Given the description of an element on the screen output the (x, y) to click on. 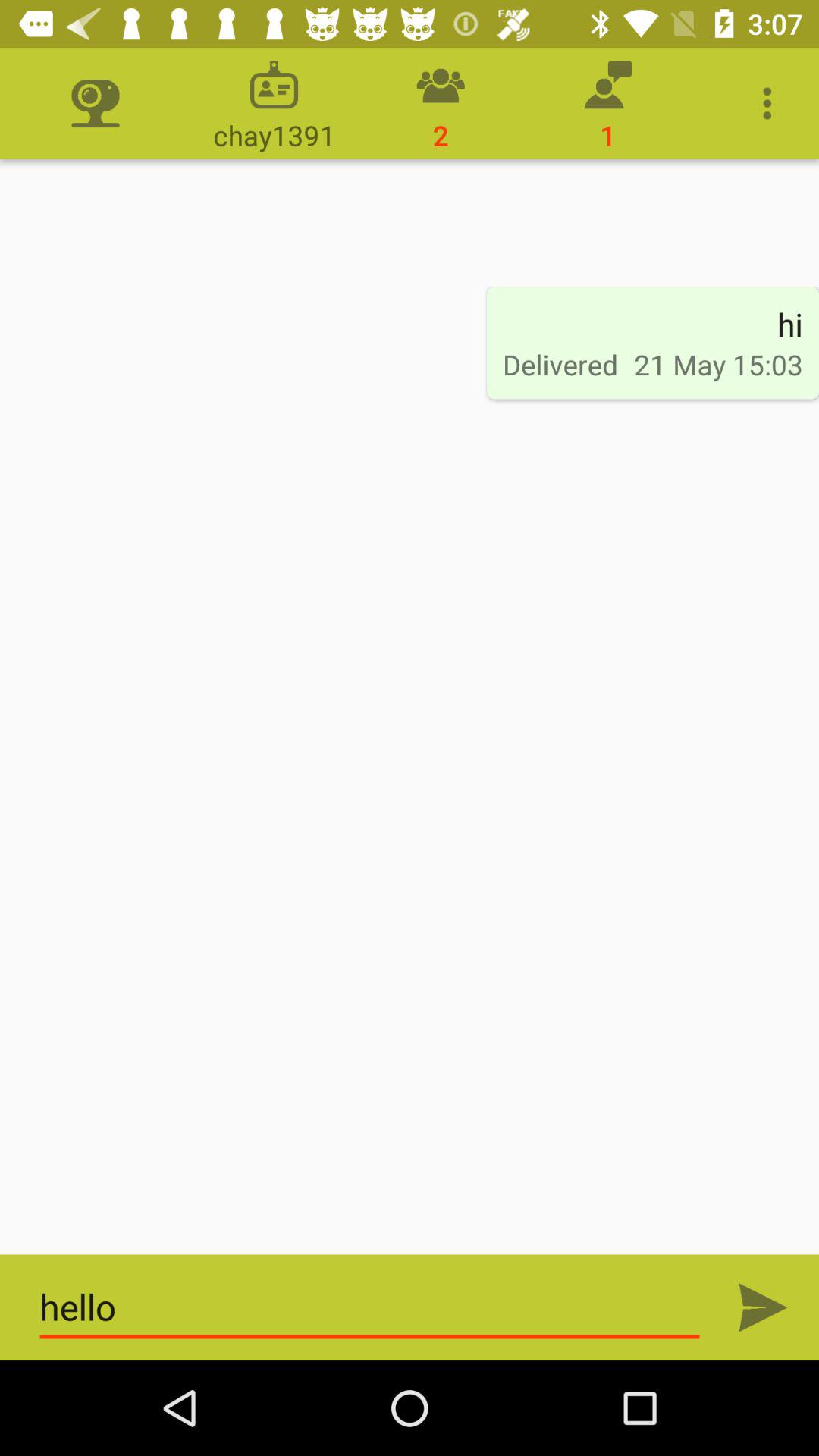
message send play button (763, 1307)
